Given the description of an element on the screen output the (x, y) to click on. 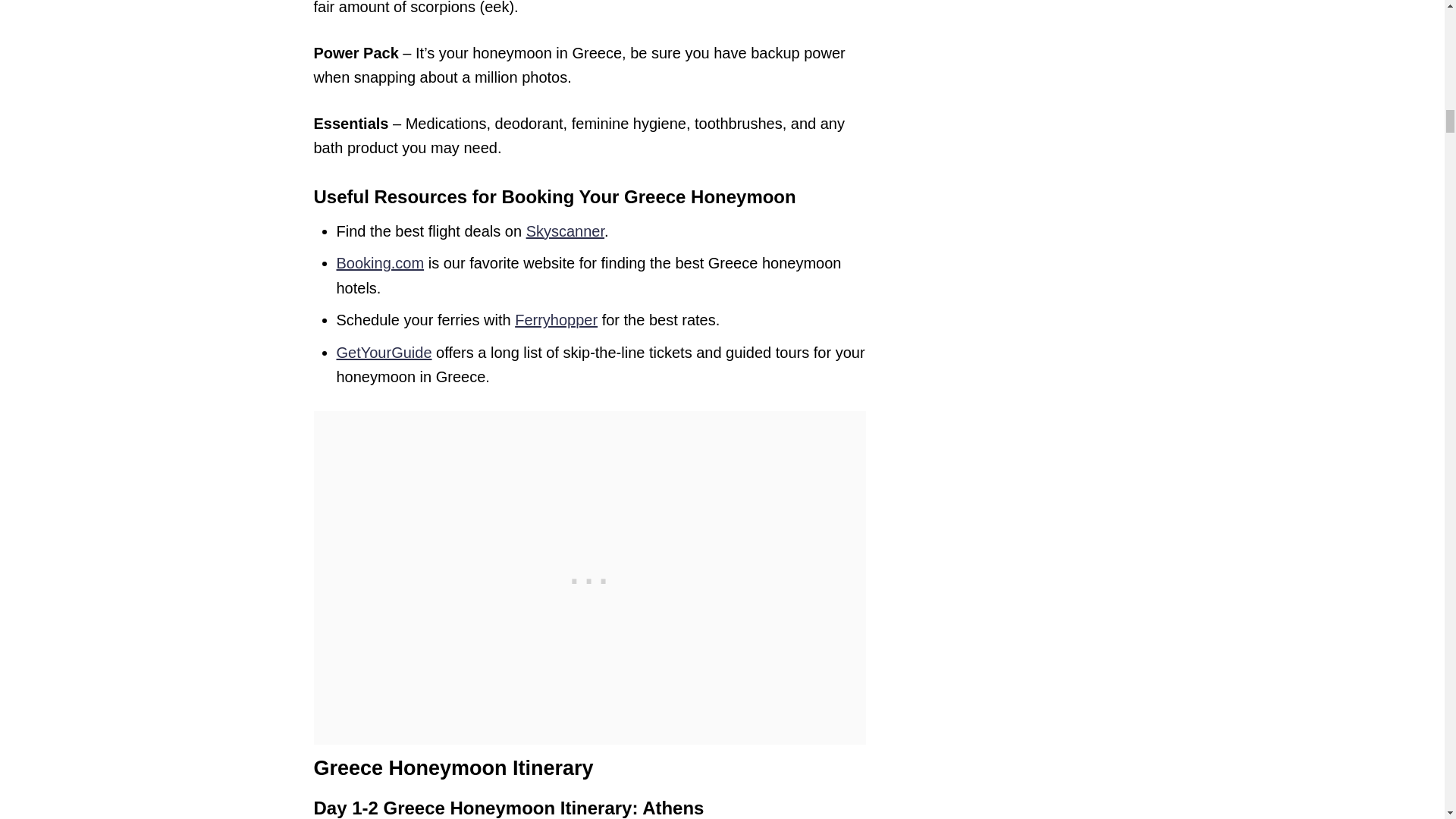
Skyscanner (564, 230)
Ferryhopper (555, 320)
Booking.com (380, 262)
GetYourGuide (384, 352)
